Given the description of an element on the screen output the (x, y) to click on. 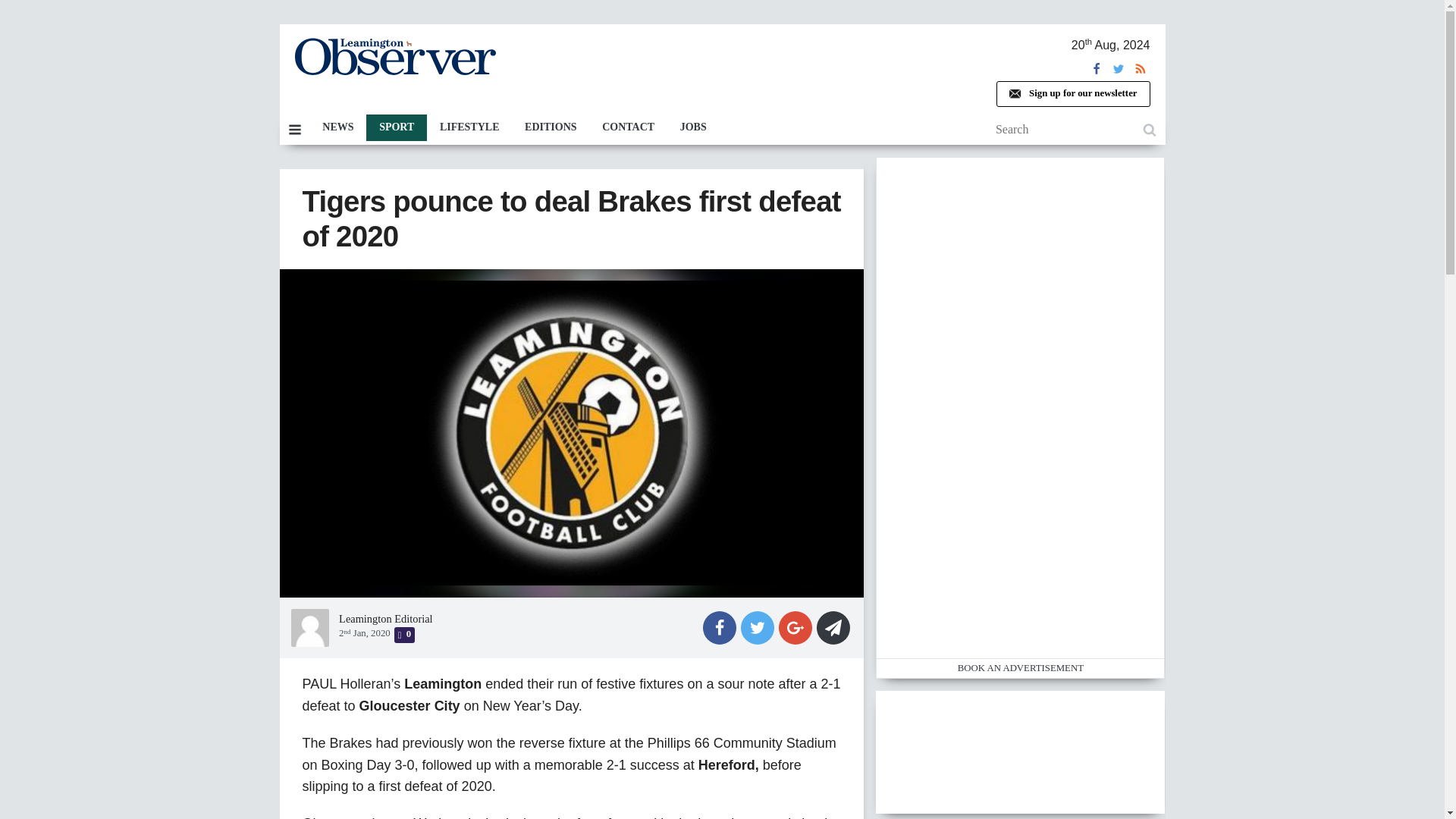
NEWS (337, 127)
LIFESTYLE (469, 127)
SPORT (396, 127)
EDITIONS (550, 127)
  Sign up for our newsletter (1072, 94)
JOBS (692, 127)
CONTACT (627, 127)
The Leamington Observer (394, 55)
